Given the description of an element on the screen output the (x, y) to click on. 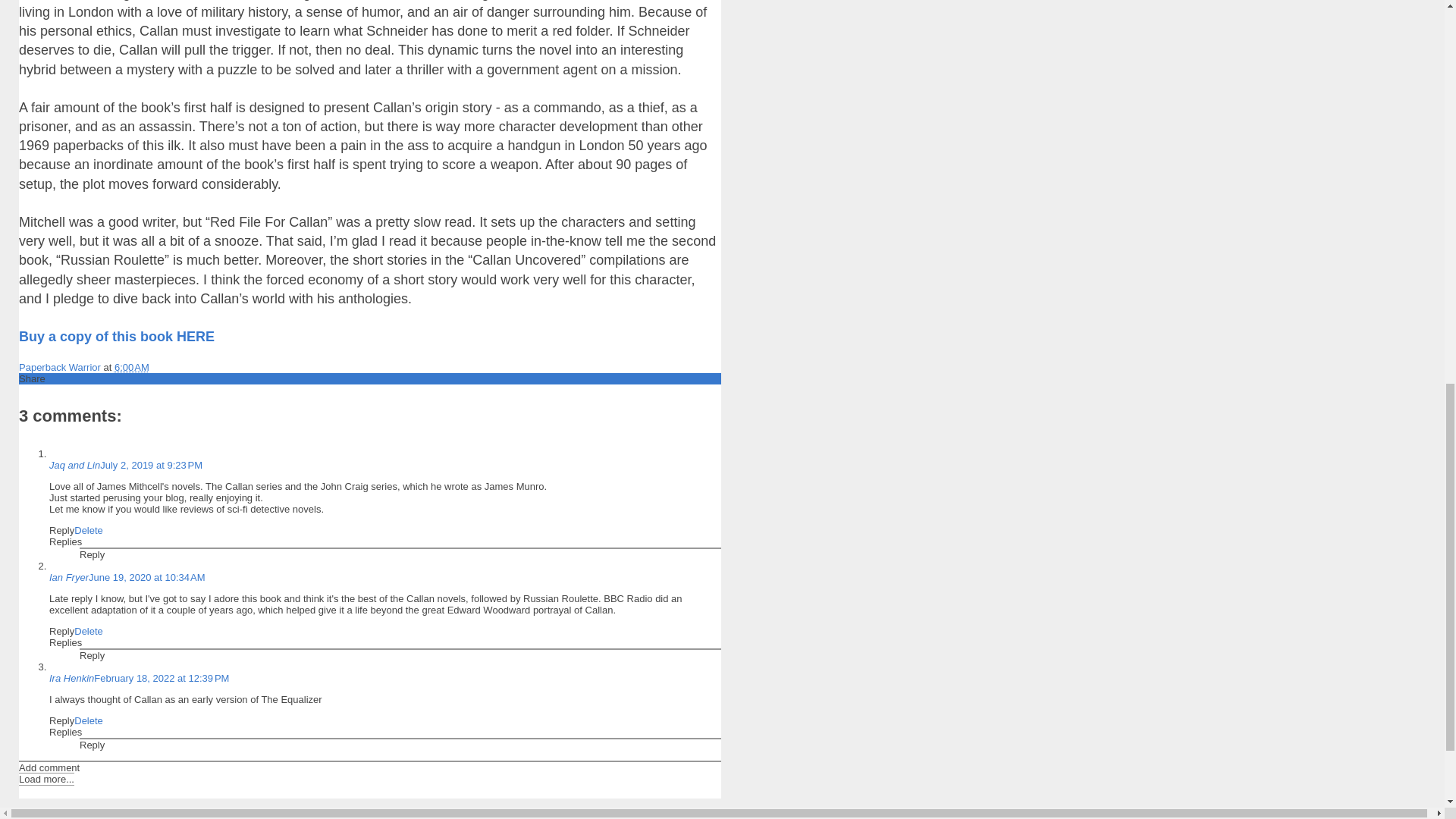
Ira Henkin (71, 677)
Reply (61, 631)
Reply (61, 530)
Reply (92, 554)
Replies (65, 541)
Reply (61, 720)
Ian Fryer (68, 577)
Load more... (46, 779)
Jaq and Lin (74, 464)
Reply (92, 655)
Replies (65, 731)
Share (31, 378)
